Given the description of an element on the screen output the (x, y) to click on. 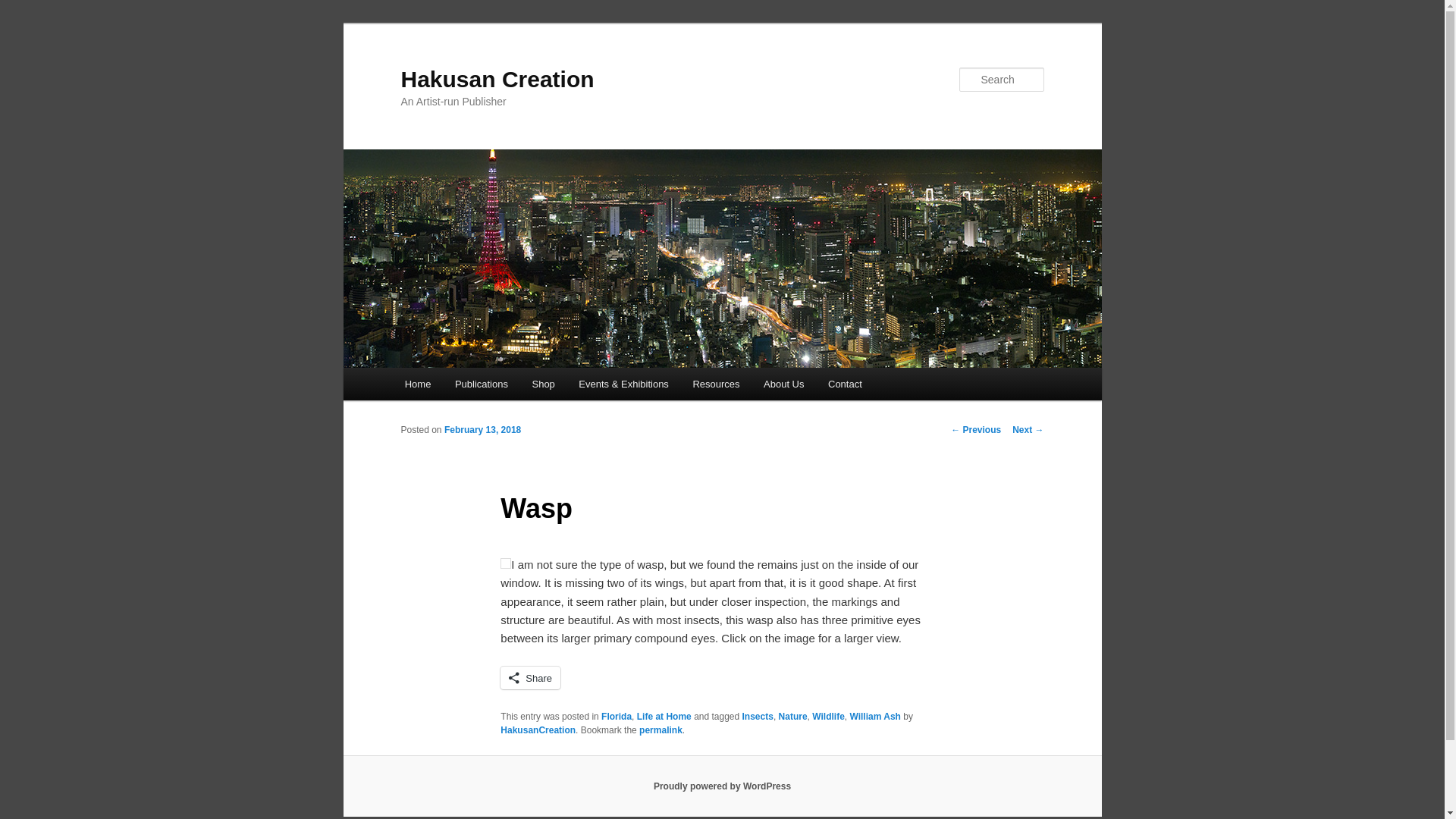
Proudly powered by WordPress (721, 786)
William Ash (873, 716)
12:20 am (482, 429)
Search (24, 8)
Semantic Personal Publishing Platform (721, 786)
Permalink to Wasp (660, 729)
Wildlife (828, 716)
Share (530, 677)
Resources (716, 383)
HakusanCreation (537, 729)
